Given the description of an element on the screen output the (x, y) to click on. 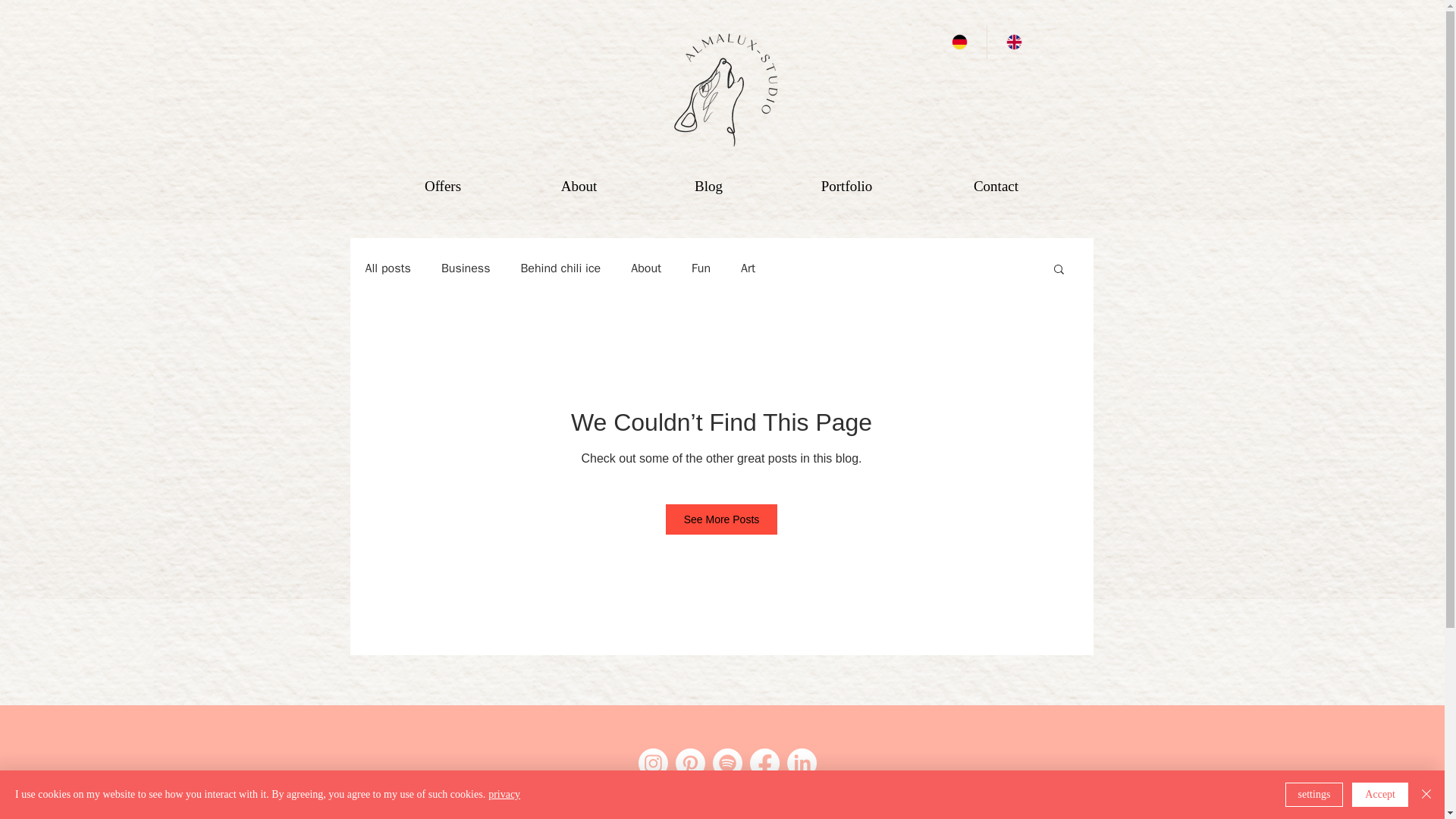
Accept (1379, 794)
Art (748, 268)
About (645, 268)
See More Posts (721, 519)
Behind chili ice (559, 268)
privacy (503, 794)
Offers (443, 186)
settings (1314, 794)
All posts (387, 268)
About (578, 186)
Fun (700, 268)
Business (465, 268)
Contact (994, 186)
data protection (762, 803)
Portfolio (845, 186)
